Given the description of an element on the screen output the (x, y) to click on. 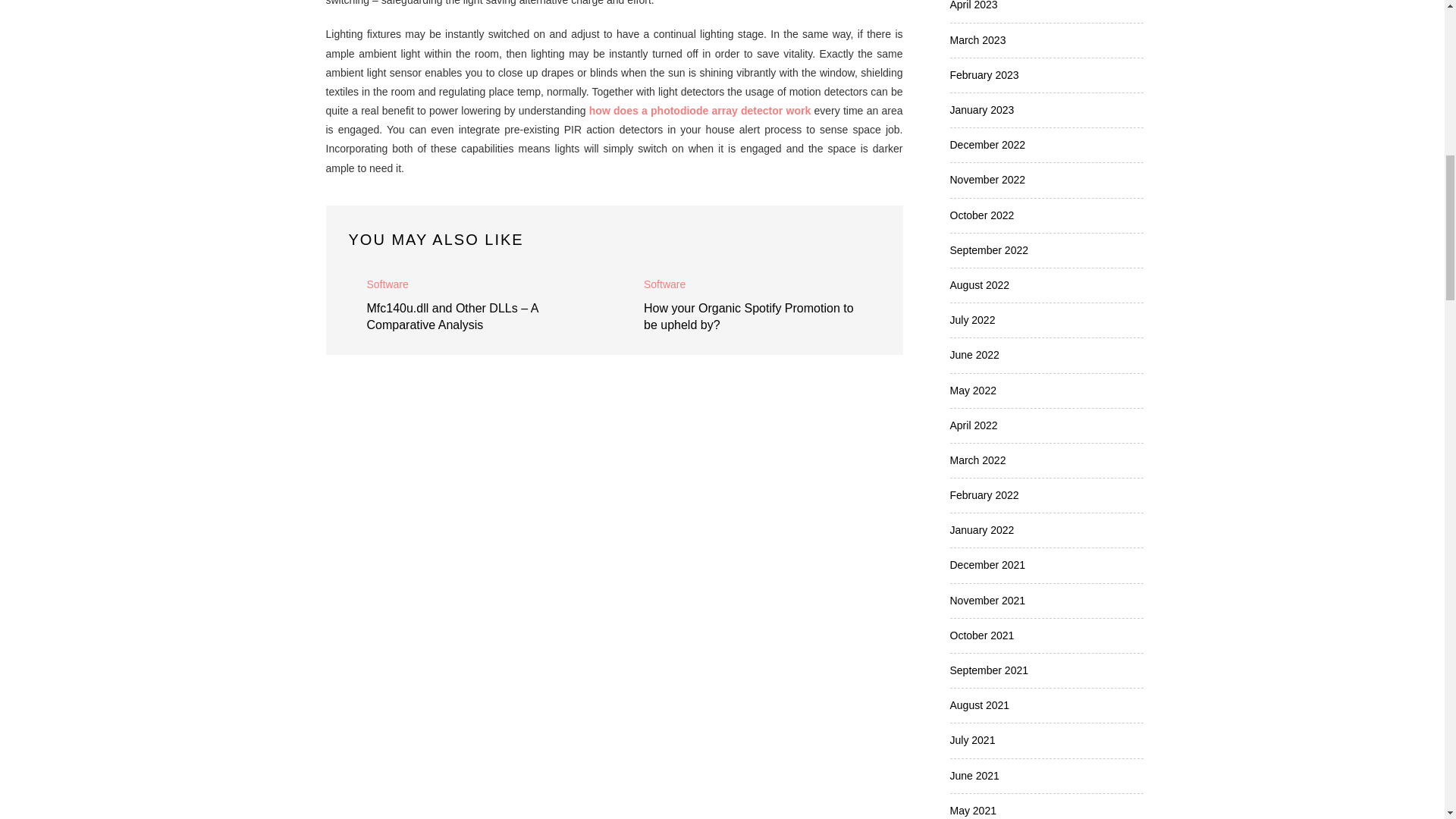
Software (387, 284)
Software (664, 284)
March 2023 (977, 39)
How your Organic Spotify Promotion to be upheld by? (748, 316)
February 2023 (983, 74)
November 2022 (987, 179)
October 2022 (981, 215)
September 2022 (988, 250)
April 2023 (973, 5)
December 2022 (987, 144)
